Given the description of an element on the screen output the (x, y) to click on. 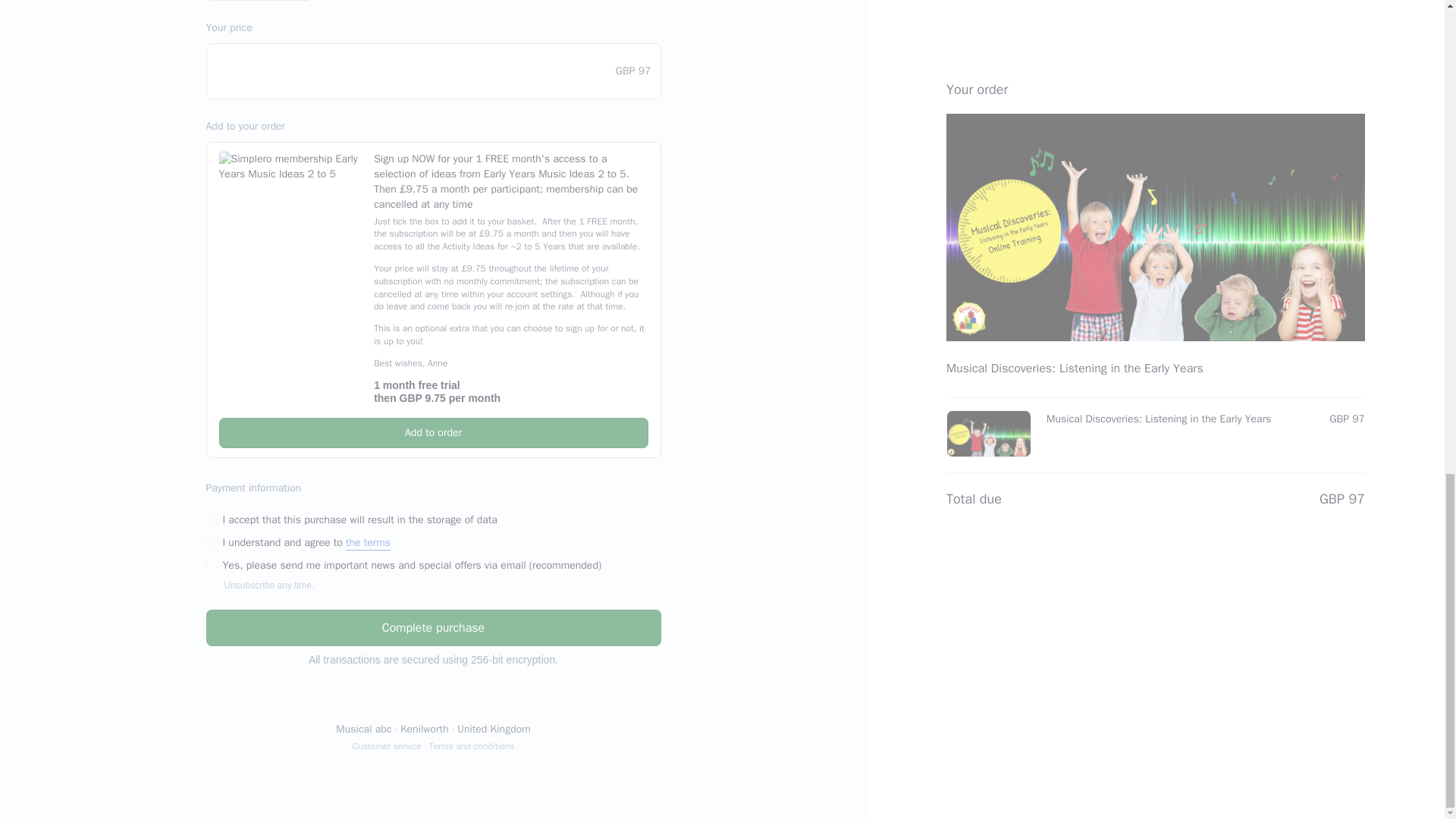
the terms (368, 543)
1 (212, 520)
Complete purchase (433, 627)
Add to order (432, 432)
1 (212, 565)
1 (212, 542)
Customer service (386, 746)
Terms and conditions (472, 746)
